Given the description of an element on the screen output the (x, y) to click on. 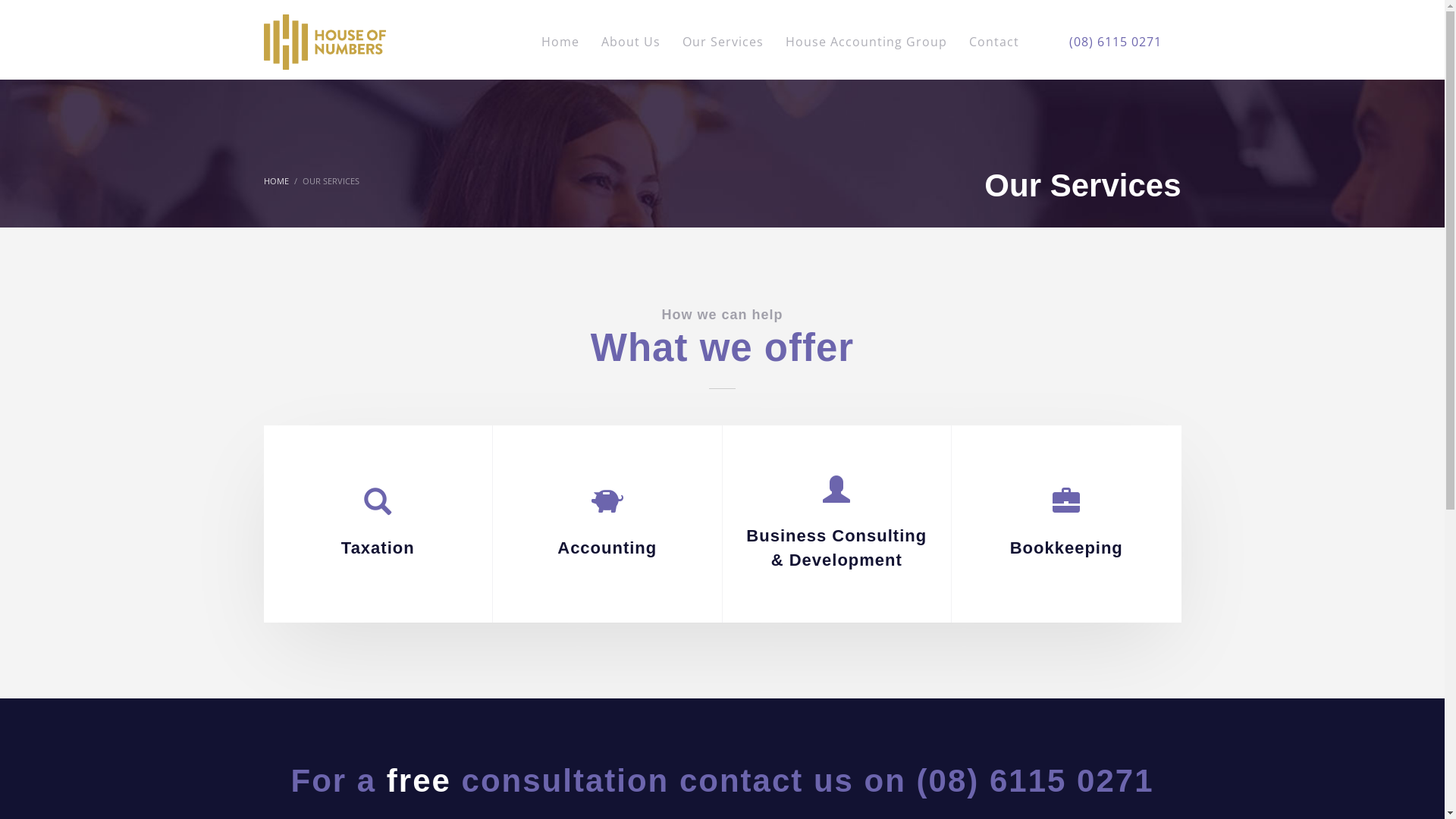
Accounting Element type: text (607, 524)
About Us Element type: text (629, 41)
(08) 6115 0271 Element type: text (1115, 40)
Welcome to House of Numbers Element type: hover (324, 41)
Home Element type: text (560, 41)
HOME Element type: text (275, 180)
Business Consulting & Development Element type: text (836, 524)
Contact Element type: text (989, 41)
House Accounting Group Element type: text (866, 41)
Taxation Element type: text (378, 524)
Our Services Element type: text (722, 41)
Bookkeeping Element type: text (1066, 524)
